Given the description of an element on the screen output the (x, y) to click on. 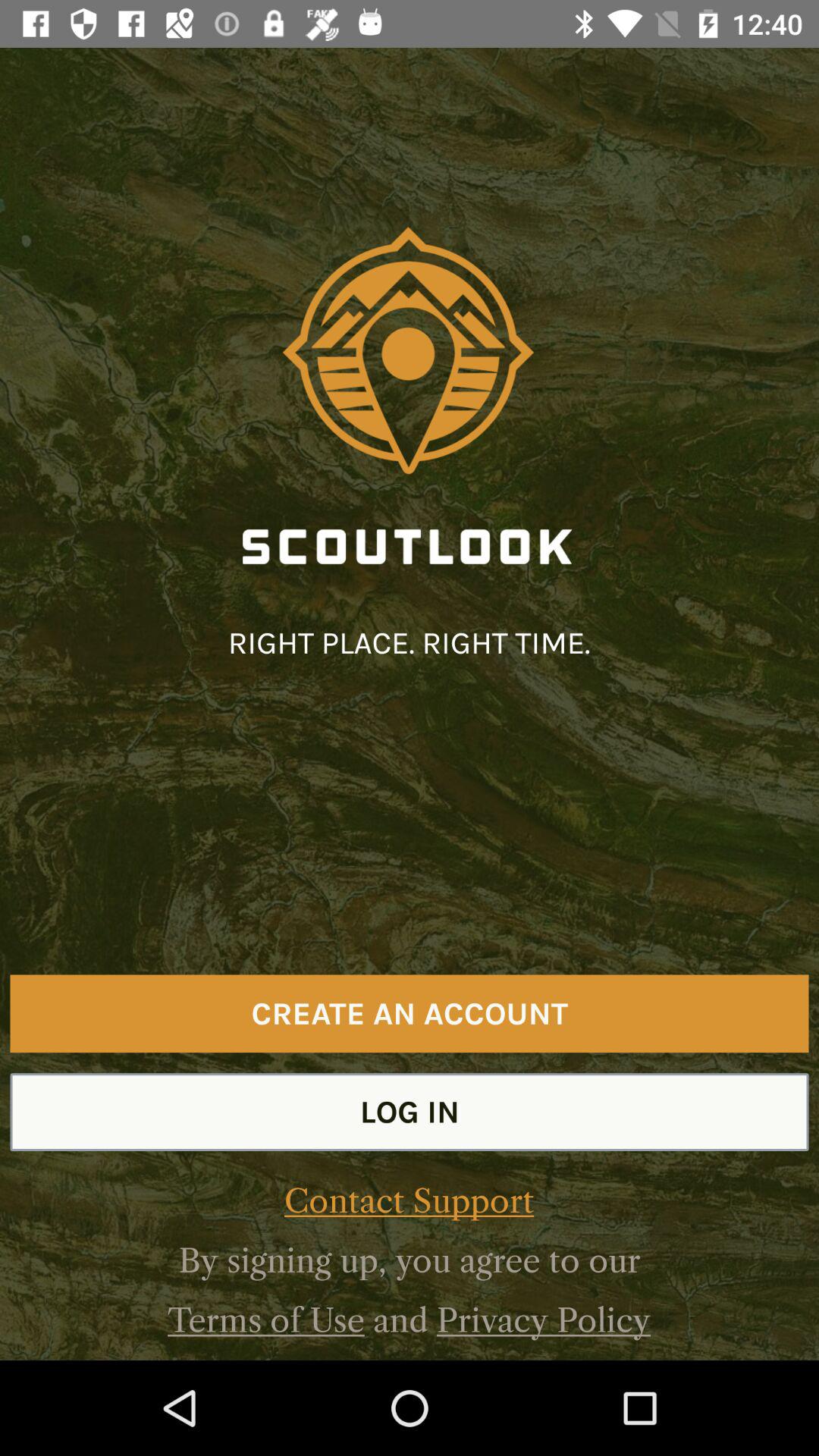
flip until privacy policy icon (543, 1320)
